Given the description of an element on the screen output the (x, y) to click on. 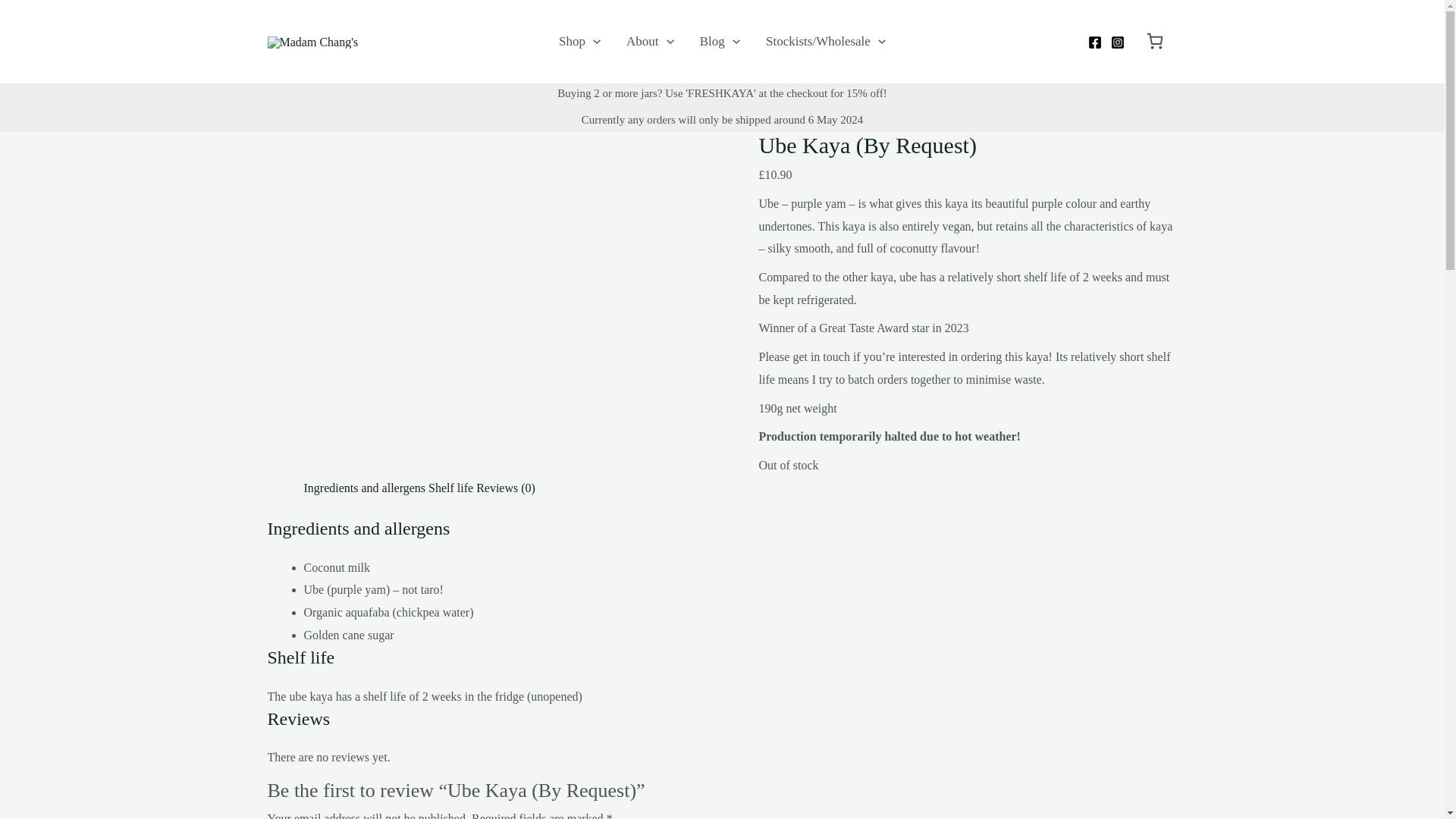
Ingredients and allergens (363, 487)
Shelf life (450, 487)
